Given the description of an element on the screen output the (x, y) to click on. 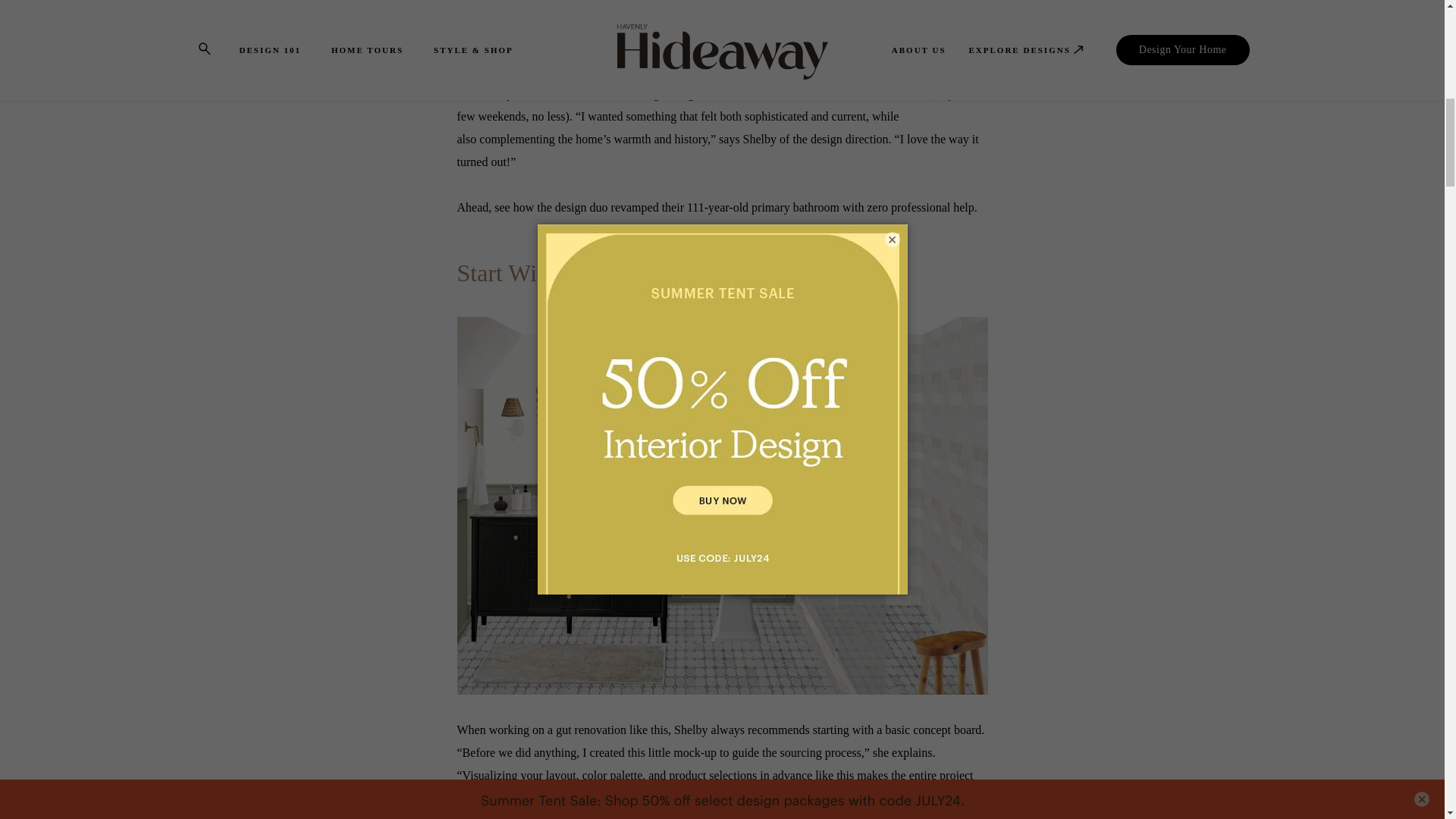
Havenly pros (745, 797)
